Given the description of an element on the screen output the (x, y) to click on. 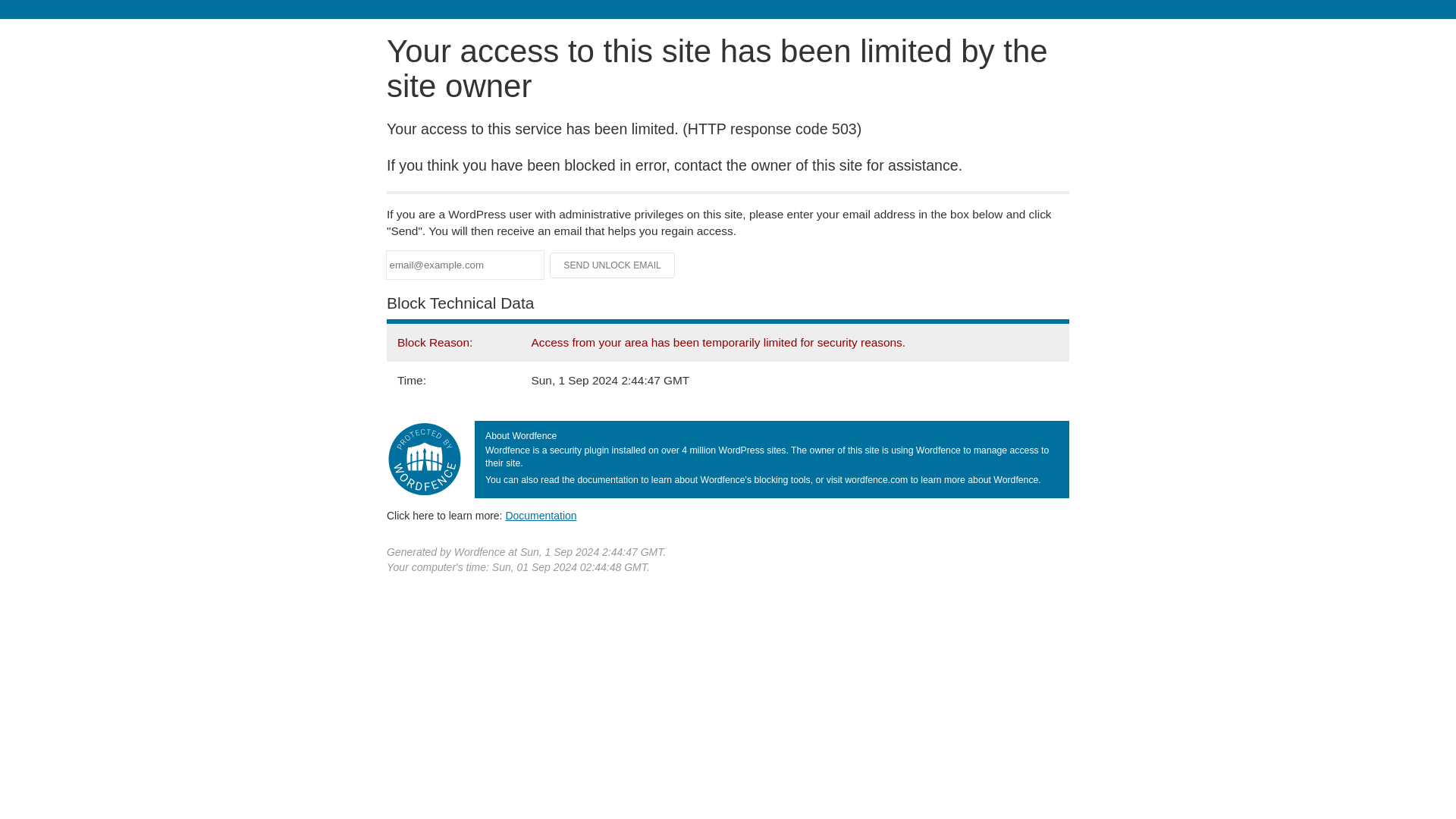
Send Unlock Email (612, 265)
Send Unlock Email (612, 265)
Documentation (540, 515)
